Given the description of an element on the screen output the (x, y) to click on. 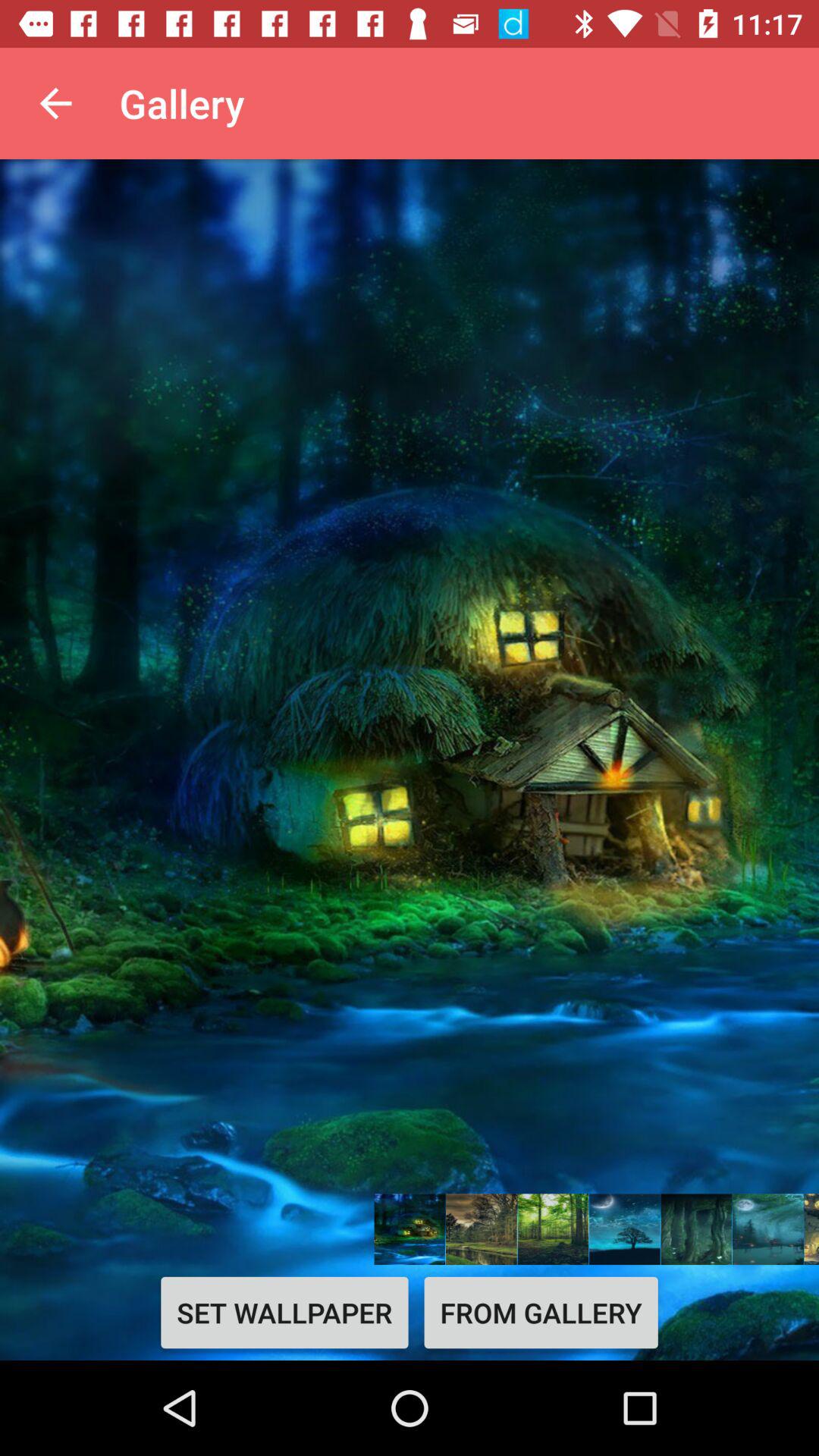
turn on icon to the left of from gallery (284, 1312)
